Given the description of an element on the screen output the (x, y) to click on. 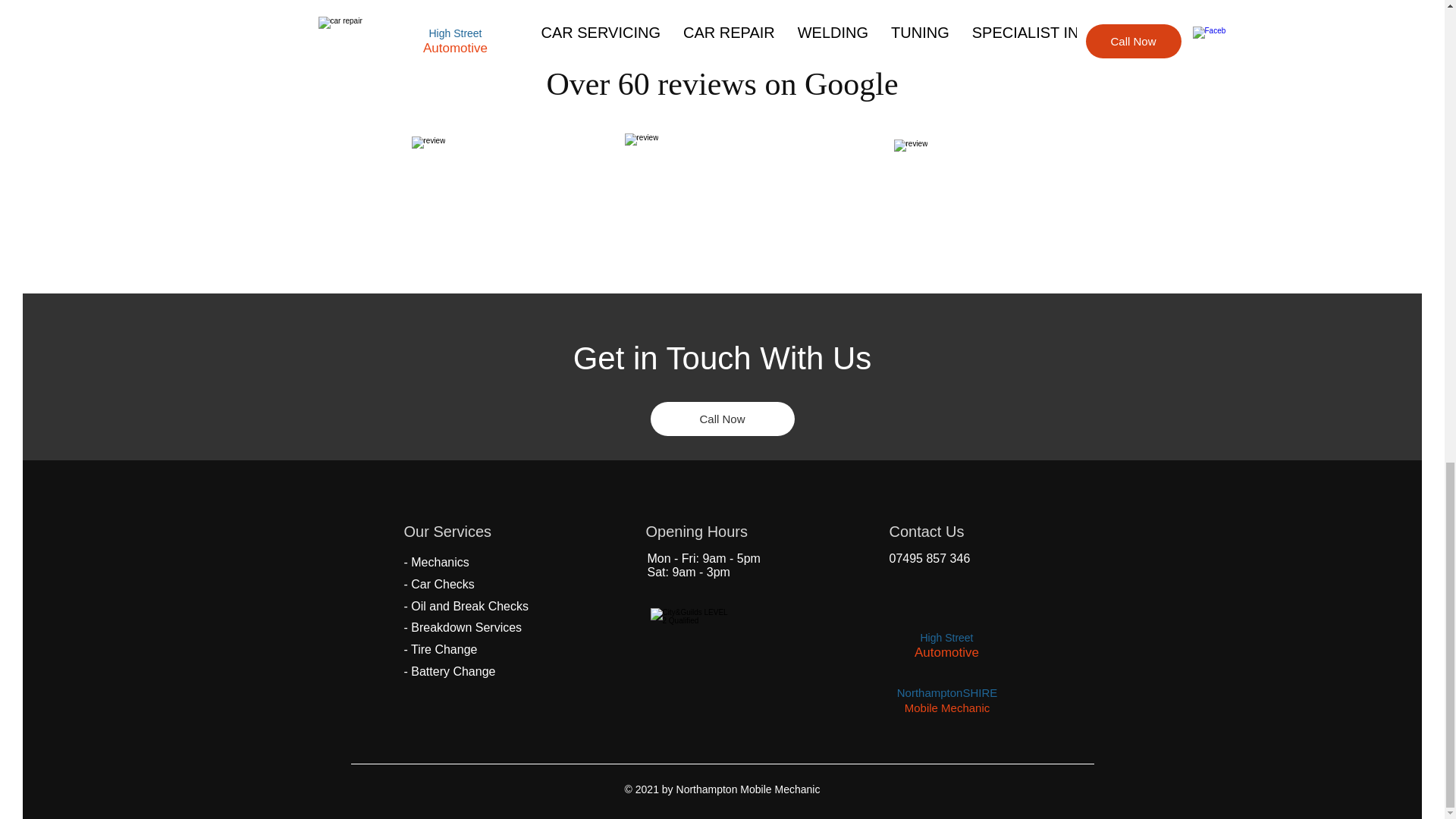
Mobile Mechanic Review (746, 189)
